Given the description of an element on the screen output the (x, y) to click on. 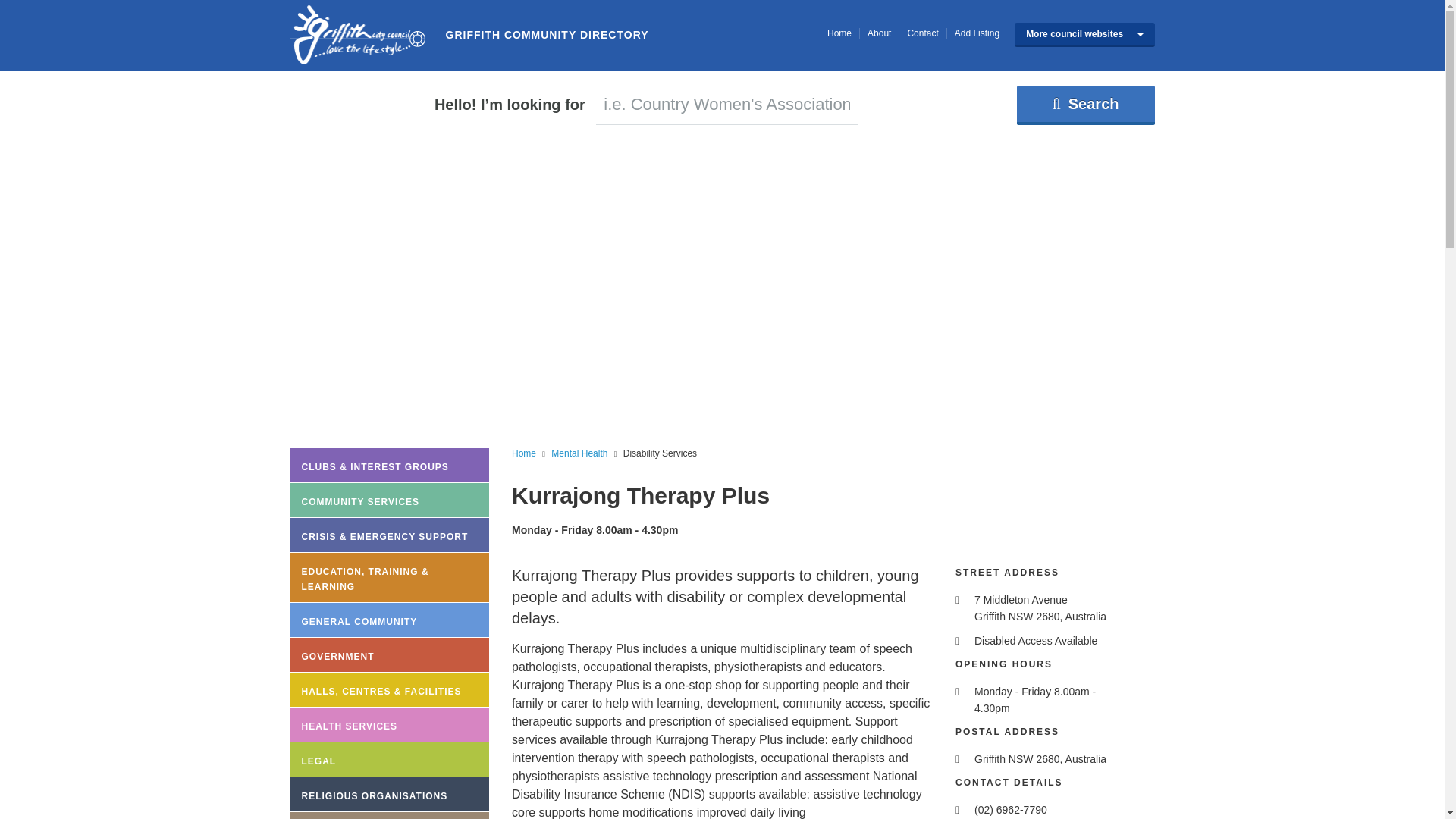
opening hours (960, 692)
Contact (922, 32)
Home (839, 32)
Phone (960, 810)
Disabled Access (960, 641)
About (879, 32)
GRIFFITH COMMUNITY DIRECTORY (357, 34)
Add Listing (976, 32)
Search (1085, 105)
More council websites (1084, 34)
